Given the description of an element on the screen output the (x, y) to click on. 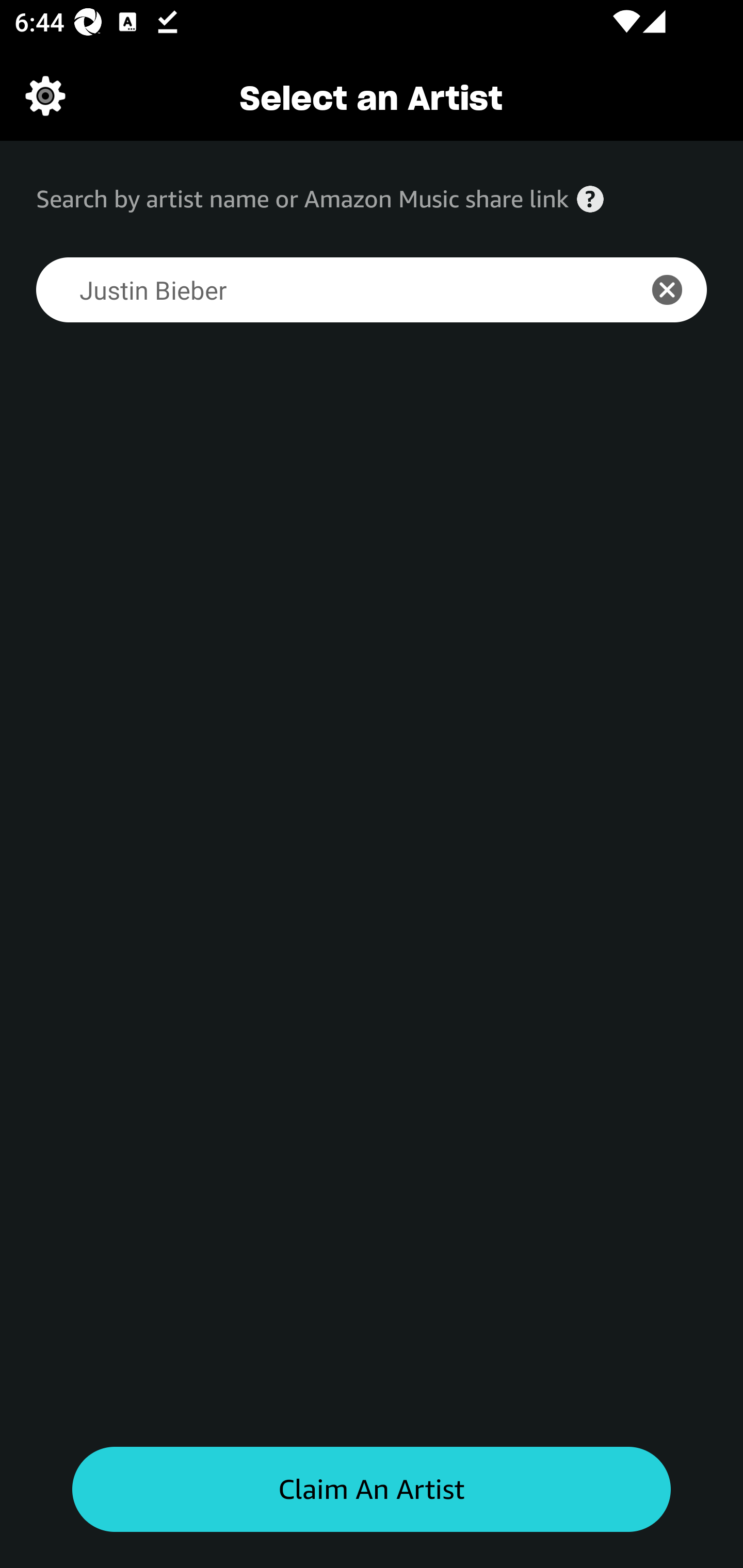
Help  icon (589, 199)
Justin Bieber Search for an artist search bar (324, 290)
 icon (677, 290)
Claim an artist button Claim An Artist (371, 1489)
